Given the description of an element on the screen output the (x, y) to click on. 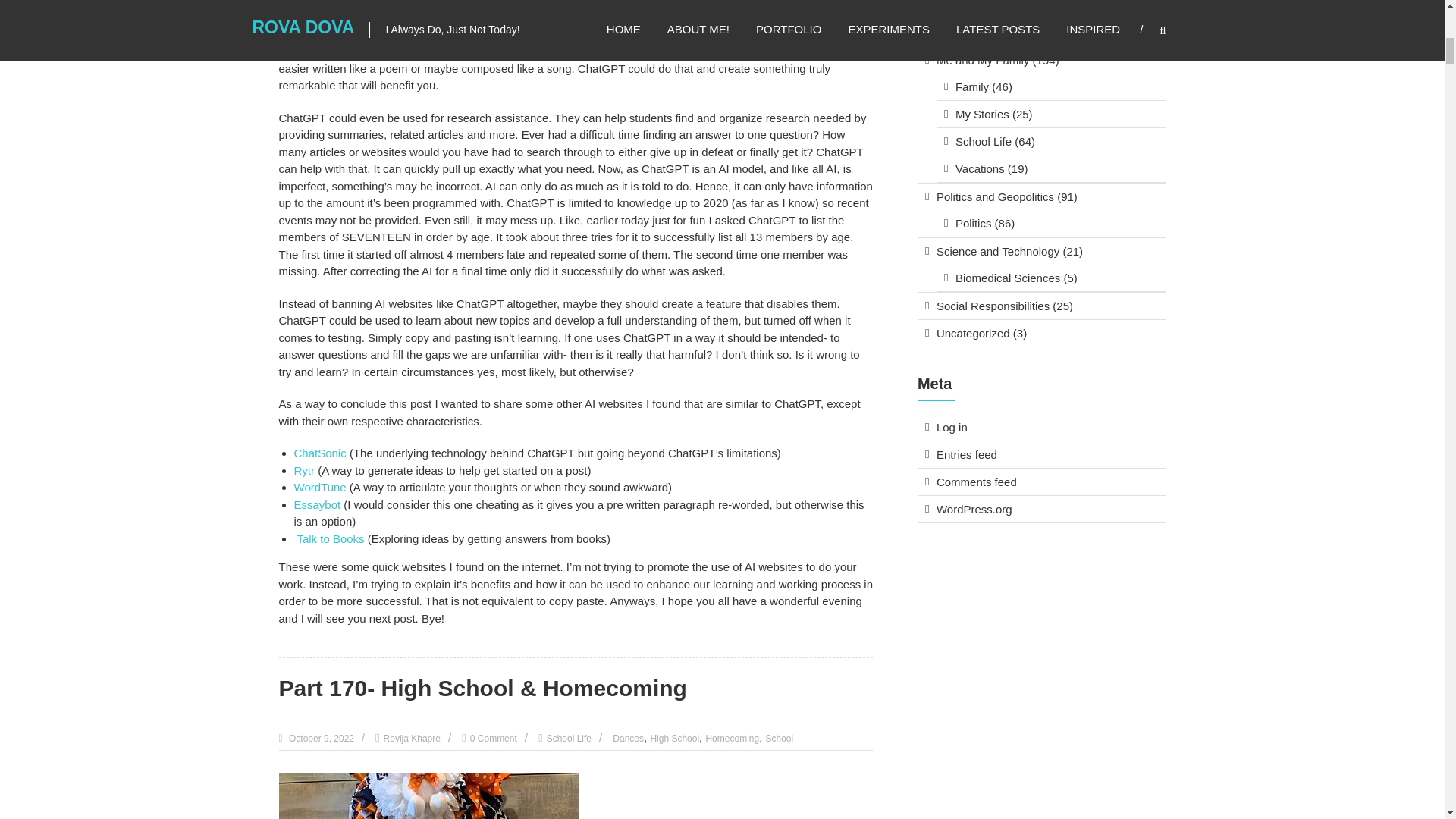
Rytr (304, 470)
Homecoming (731, 738)
WordTune (320, 486)
 Talk to Books (329, 538)
Rovija Khapre (412, 738)
School (779, 738)
9:53 pm (319, 738)
0 Comment (493, 738)
High School (673, 738)
Essaybot (317, 504)
School Life (569, 738)
ChatSonic (320, 452)
Dances (627, 738)
Rovija Khapre (412, 738)
October 9, 2022 (319, 738)
